Given the description of an element on the screen output the (x, y) to click on. 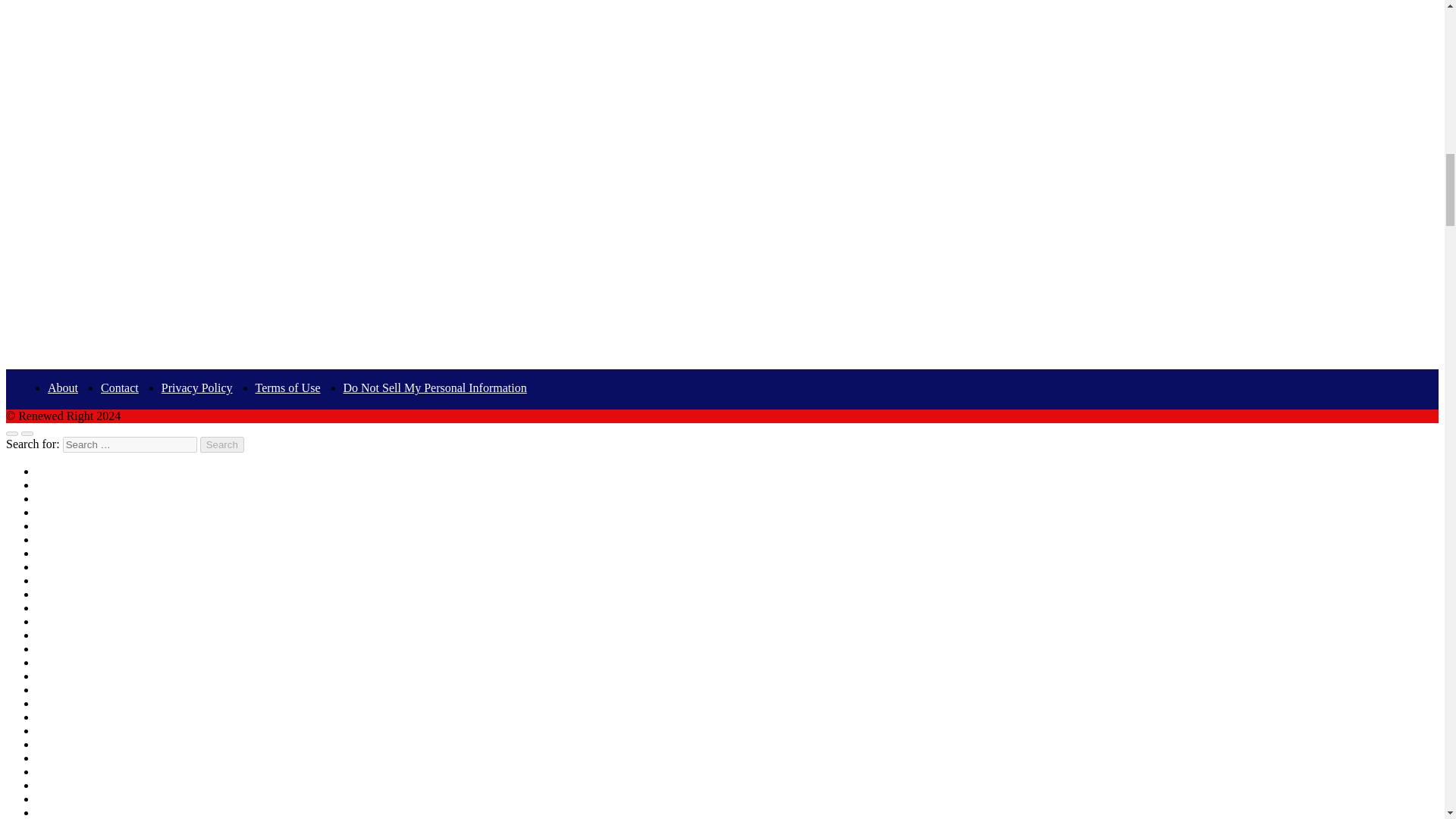
Search (222, 444)
Search (222, 444)
